Given the description of an element on the screen output the (x, y) to click on. 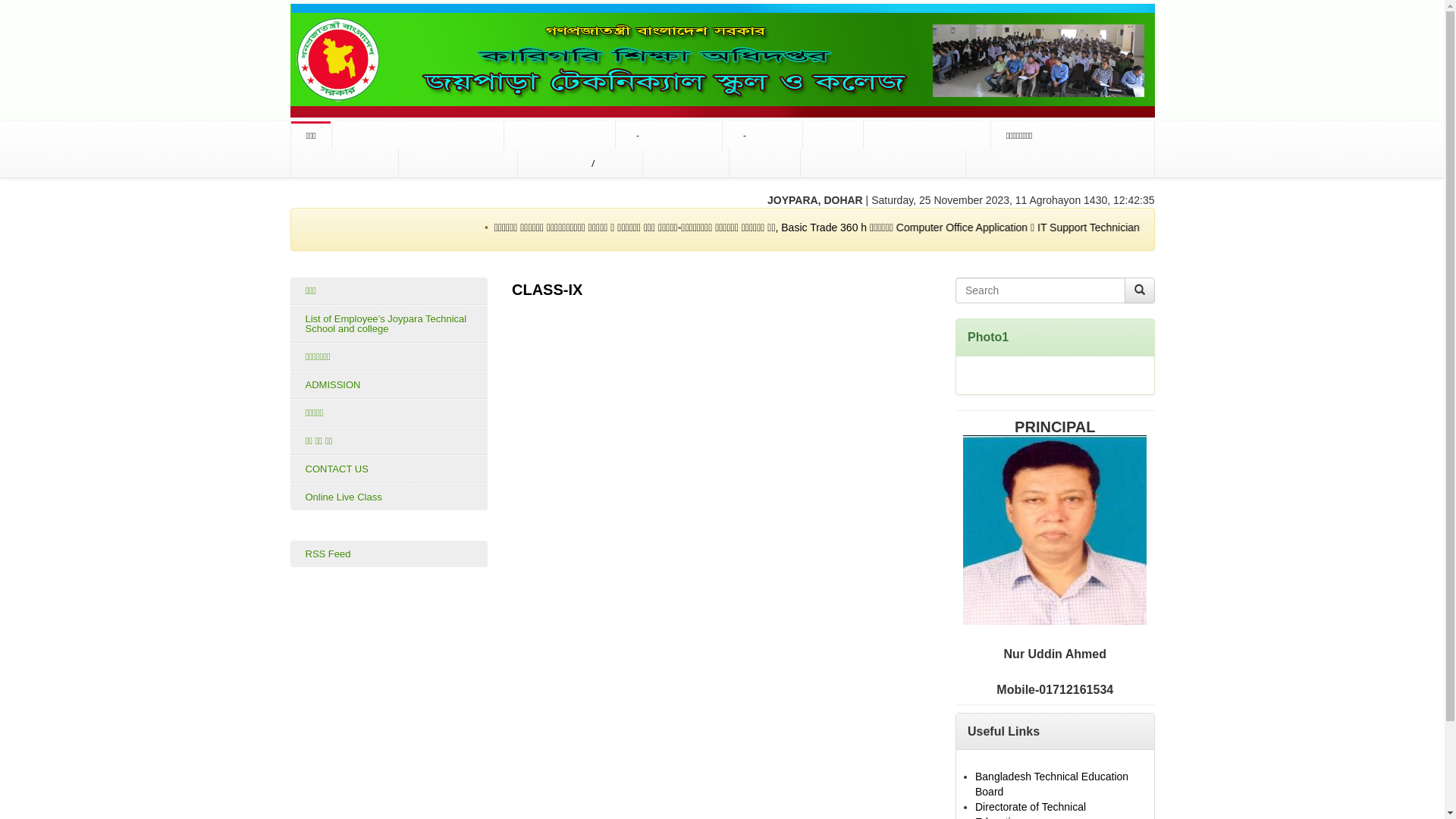
--- Element type: hover (1054, 528)
RSS Feed Element type: text (387, 553)
Joypara Technical School & College Element type: hover (721, 59)
CLASS-IX Element type: text (546, 289)
Online Live Class Element type: text (387, 496)
CONTACT US Element type: text (387, 469)
Photo1 Element type: text (987, 336)
Bangladesh Technical Education Board Element type: text (1051, 783)
ADMISSION Element type: text (387, 384)
